Given the description of an element on the screen output the (x, y) to click on. 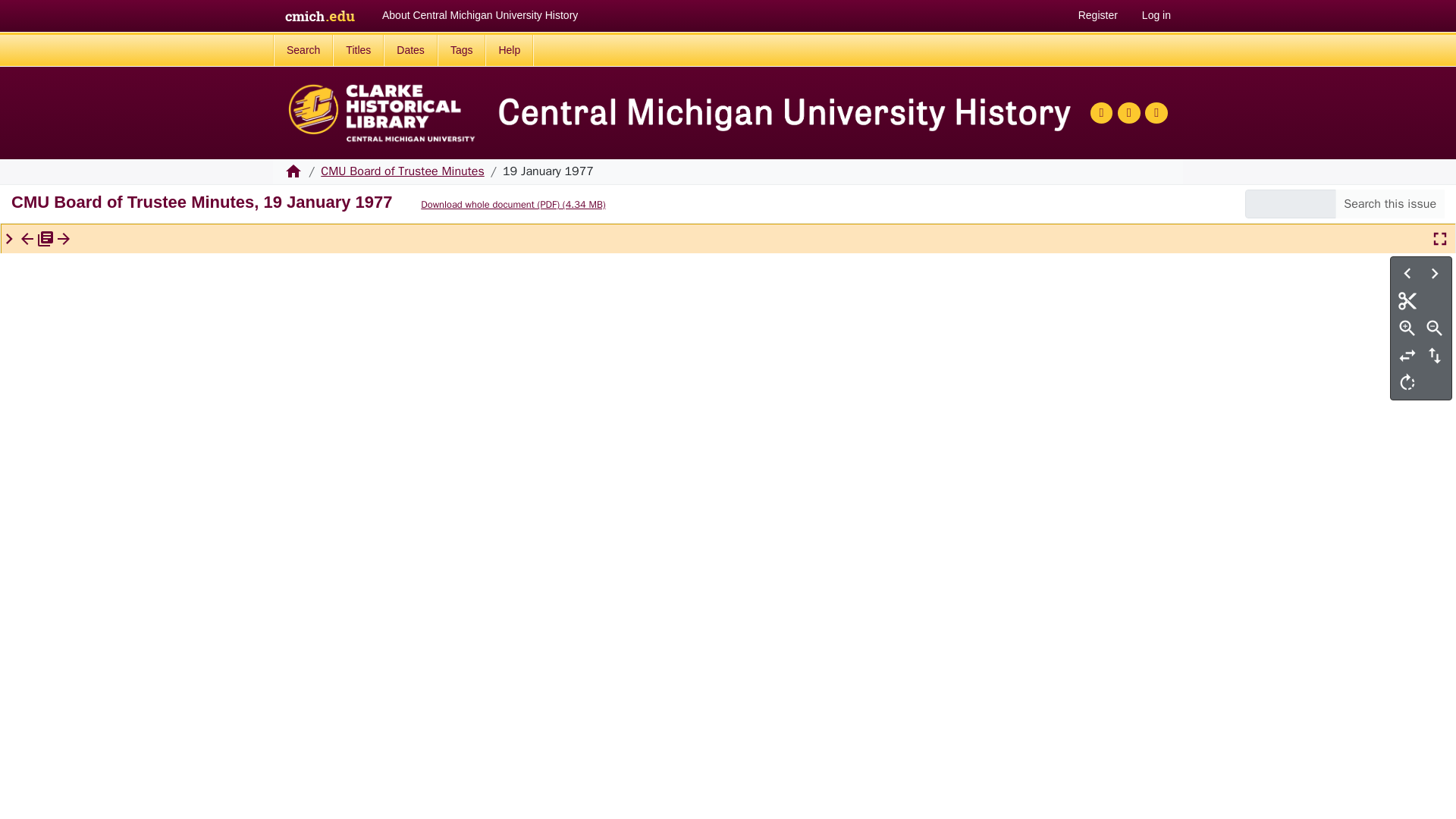
About Central Michigan University History (479, 15)
Zoom out (1434, 328)
Next document (63, 237)
Register (1097, 15)
Log in (1155, 15)
CMU Board of Trustee Minutes (401, 171)
Previous document (26, 239)
Zoom in (1407, 328)
Browse all documents of this publication (45, 239)
Rotate image (1407, 382)
Next page (1434, 273)
Central Michigan University History (292, 176)
Titles (358, 50)
Search this issue (1389, 203)
Previous document (26, 237)
